Given the description of an element on the screen output the (x, y) to click on. 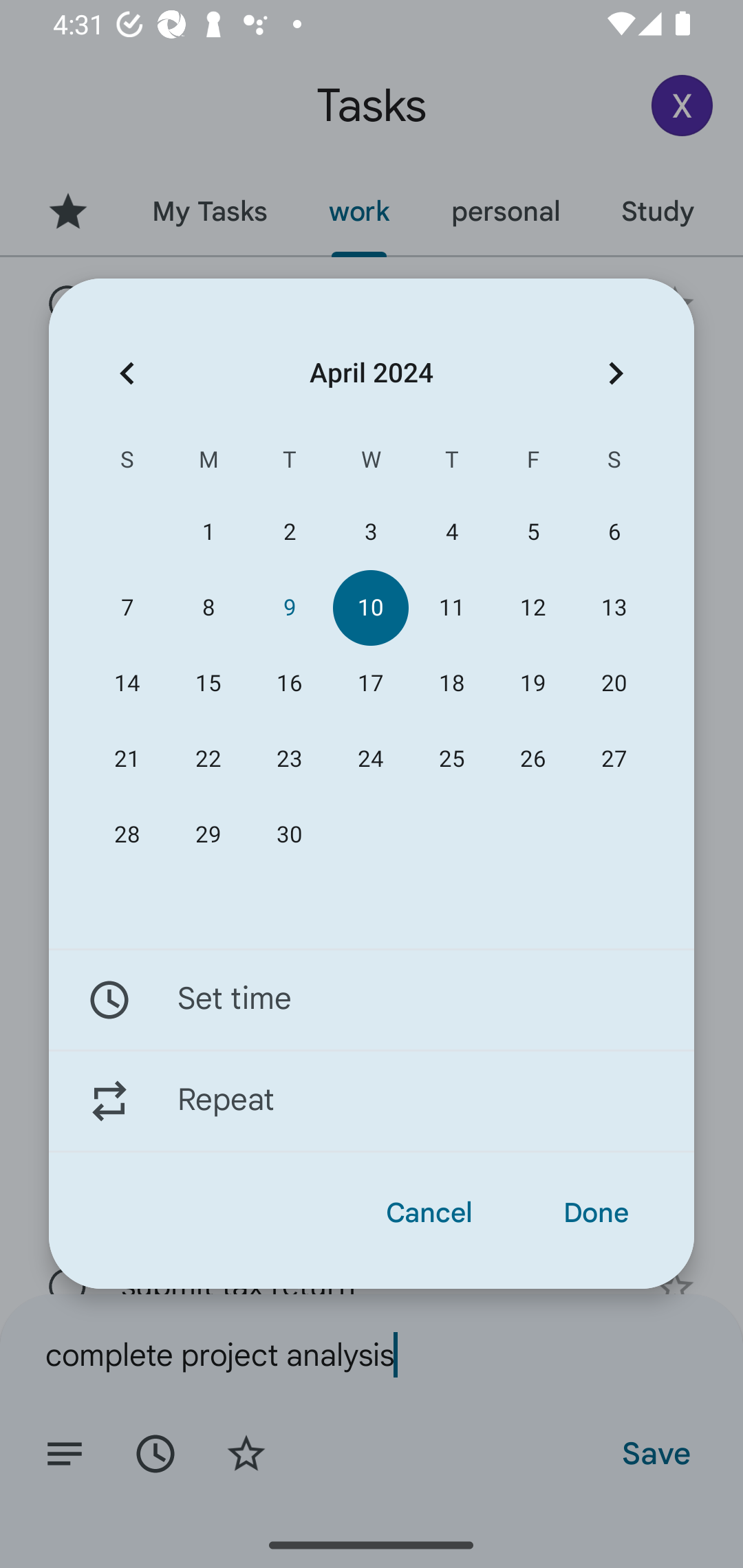
Previous month (126, 372)
Next month (615, 372)
1 01 April 2024 (207, 531)
2 02 April 2024 (288, 531)
3 03 April 2024 (370, 531)
4 04 April 2024 (451, 531)
5 05 April 2024 (532, 531)
6 06 April 2024 (613, 531)
7 07 April 2024 (126, 608)
8 08 April 2024 (207, 608)
9 09 April 2024 (288, 608)
10 10 April 2024 (370, 608)
11 11 April 2024 (451, 608)
12 12 April 2024 (532, 608)
13 13 April 2024 (613, 608)
14 14 April 2024 (126, 683)
15 15 April 2024 (207, 683)
16 16 April 2024 (288, 683)
17 17 April 2024 (370, 683)
18 18 April 2024 (451, 683)
19 19 April 2024 (532, 683)
20 20 April 2024 (613, 683)
21 21 April 2024 (126, 758)
22 22 April 2024 (207, 758)
23 23 April 2024 (288, 758)
24 24 April 2024 (370, 758)
25 25 April 2024 (451, 758)
26 26 April 2024 (532, 758)
27 27 April 2024 (613, 758)
28 28 April 2024 (126, 834)
29 29 April 2024 (207, 834)
30 30 April 2024 (288, 834)
Set time (371, 999)
Repeat (371, 1101)
Cancel (429, 1213)
Done (595, 1213)
